Given the description of an element on the screen output the (x, y) to click on. 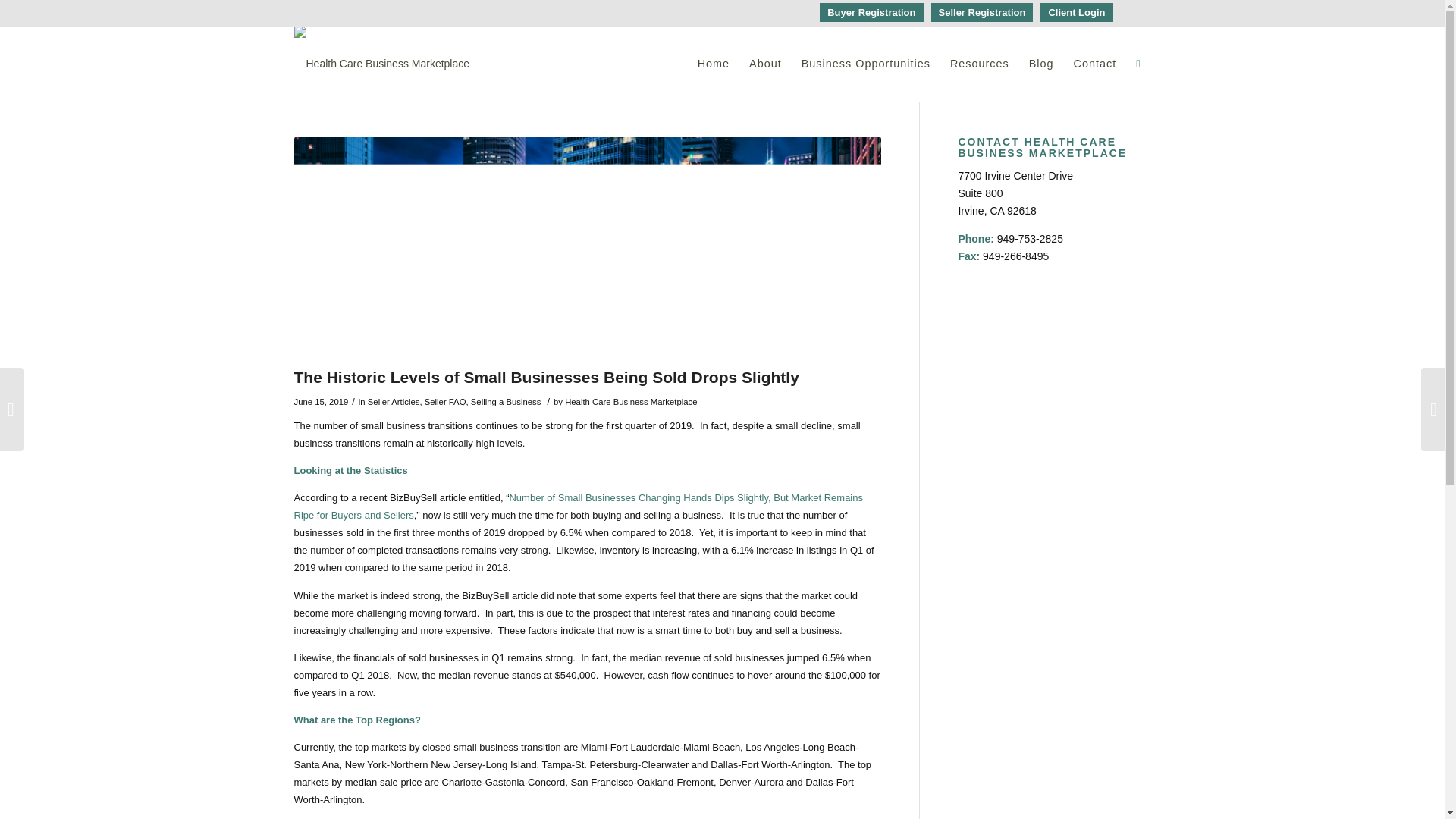
Seller FAQ (445, 401)
Home (713, 63)
Seller Articles (394, 401)
Client Login (1076, 12)
Health Care Business Marketplace (630, 401)
Blog (1041, 63)
Resources (979, 63)
Selling a Business (505, 401)
